Given the description of an element on the screen output the (x, y) to click on. 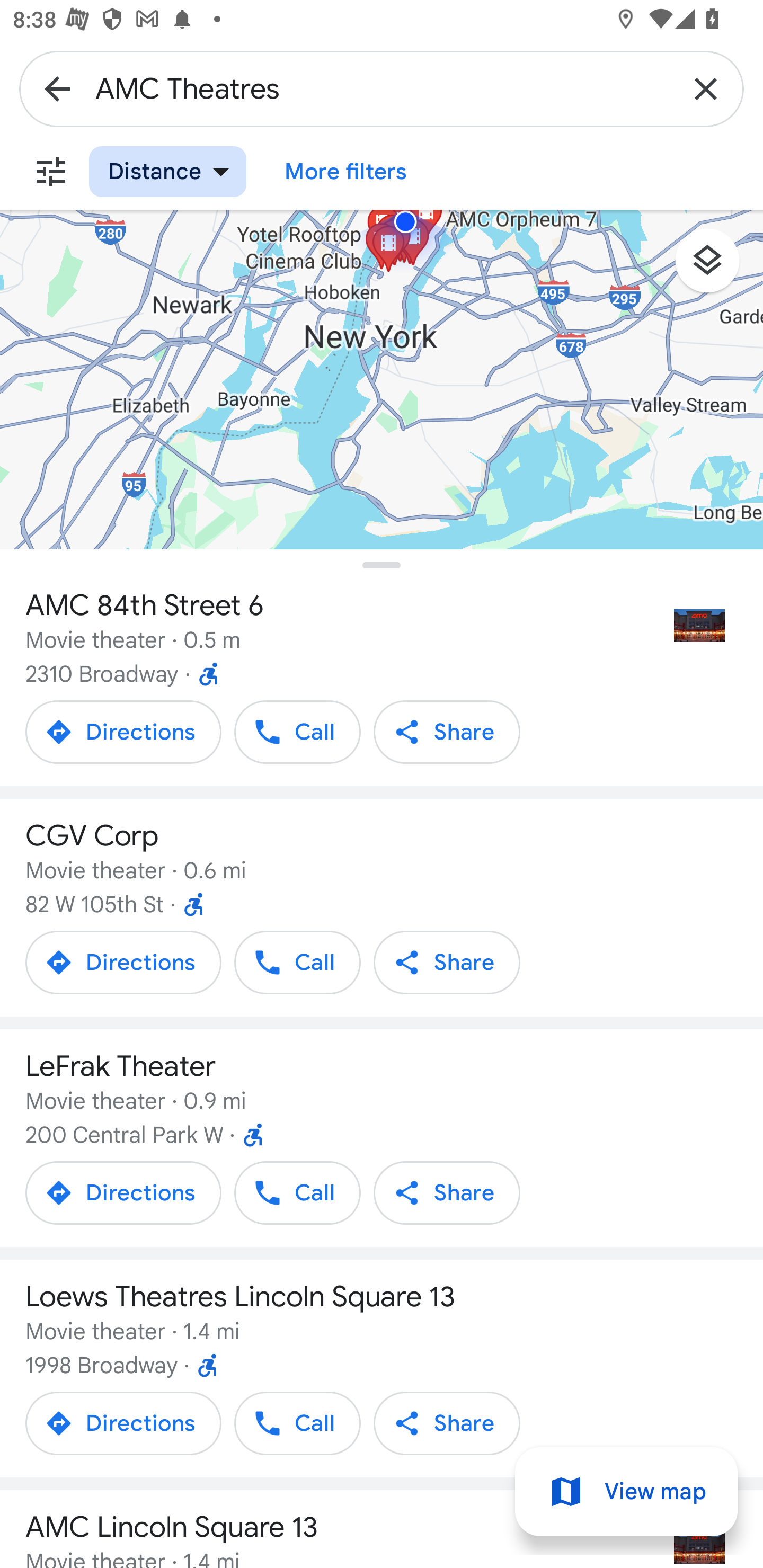
Back (57, 88)
AMC Theatres (381, 88)
Clear (705, 88)
More filters (50, 171)
Distance Distance Distance (167, 171)
More filters More filters More filters (345, 171)
Layers (716, 267)
Share CGV Corp Share Share CGV Corp (446, 962)
Share LeFrak Theater Share Share LeFrak Theater (446, 1192)
View map Map view (626, 1491)
